Given the description of an element on the screen output the (x, y) to click on. 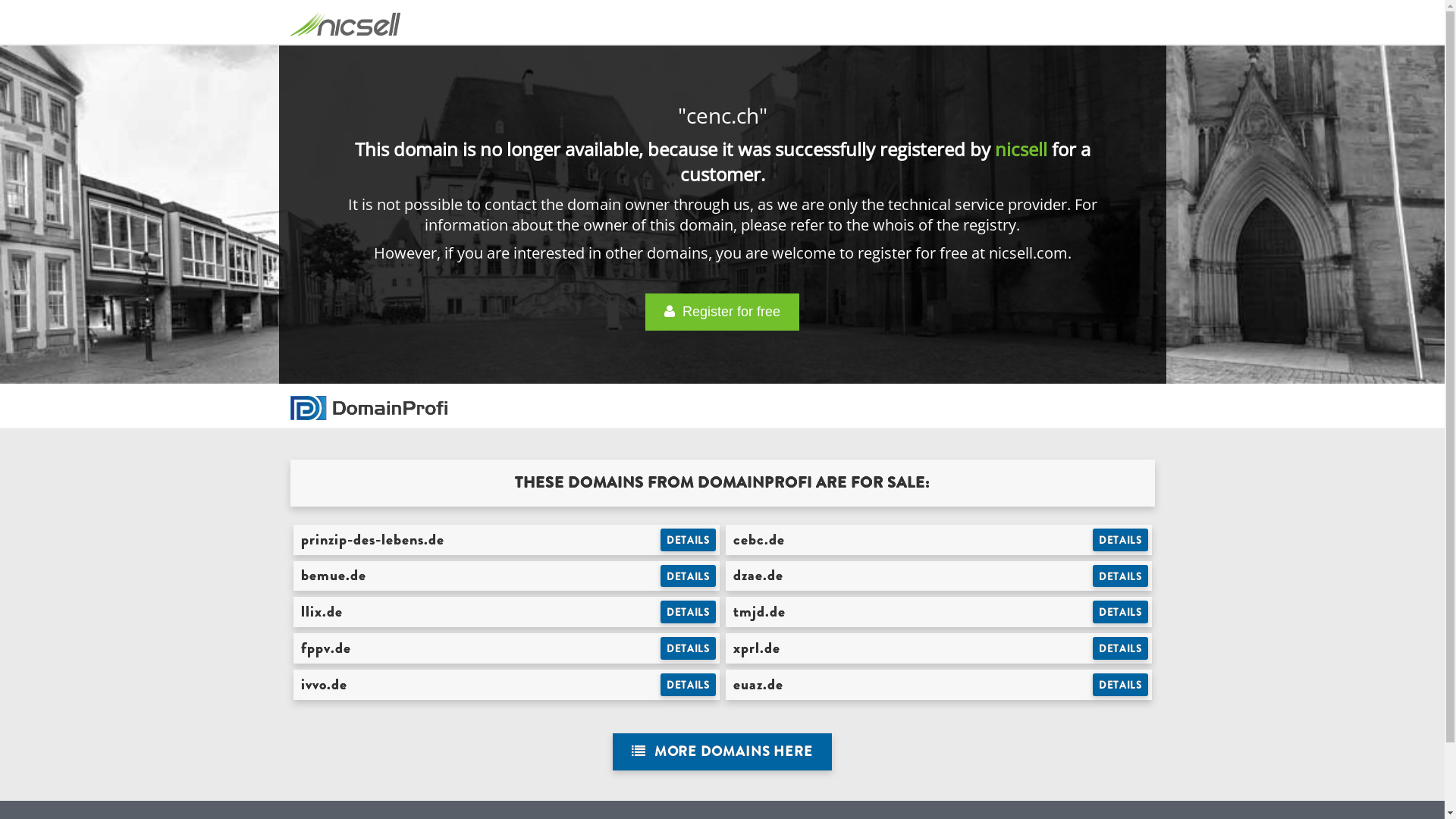
DETAILS Element type: text (687, 539)
DETAILS Element type: text (1120, 539)
DETAILS Element type: text (1120, 611)
DETAILS Element type: text (1120, 684)
DETAILS Element type: text (1120, 648)
  MORE DOMAINS HERE Element type: text (721, 751)
DETAILS Element type: text (687, 611)
  Register for free Element type: text (722, 311)
DETAILS Element type: text (687, 648)
nicsell Element type: text (1020, 148)
DETAILS Element type: text (687, 575)
DETAILS Element type: text (1120, 575)
DETAILS Element type: text (687, 684)
